Given the description of an element on the screen output the (x, y) to click on. 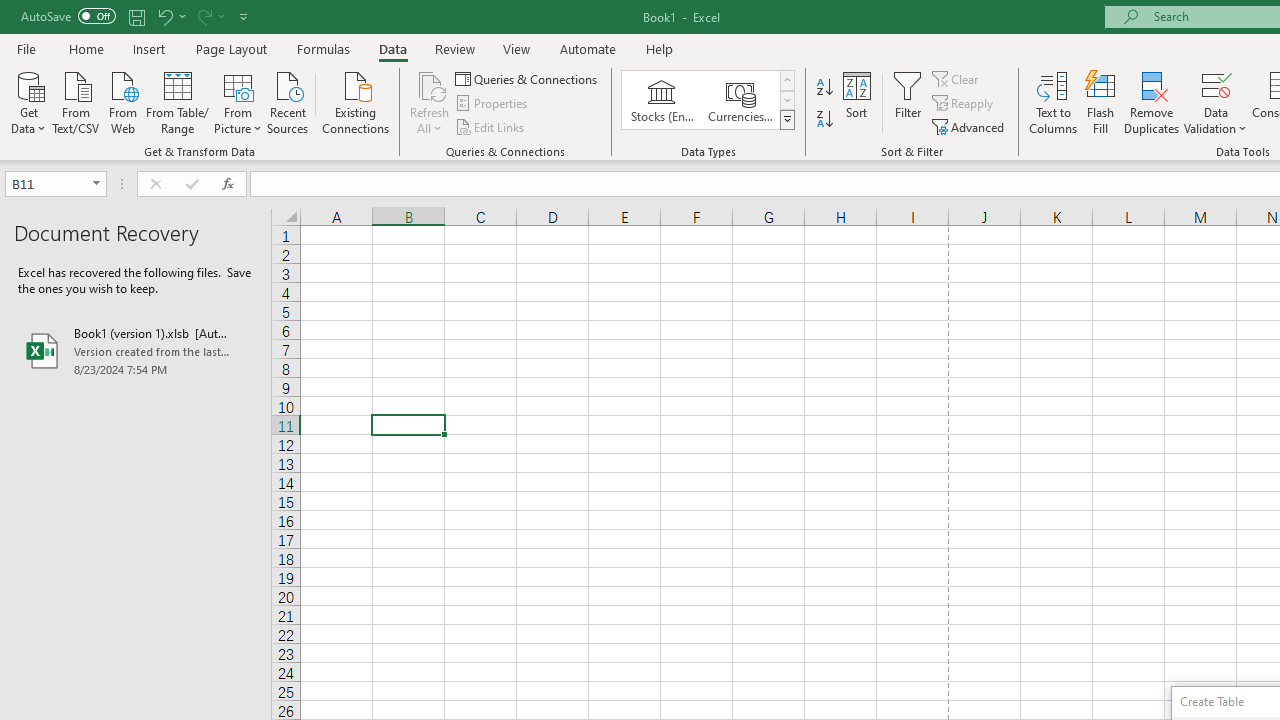
Insert (149, 48)
Class: NetUIImage (787, 119)
Review (454, 48)
Remove Duplicates (1151, 102)
Text to Columns... (1053, 102)
Data Validation... (1215, 102)
Clear (957, 78)
Quick Access Toolbar (136, 16)
Row up (786, 79)
File Tab (26, 48)
Data Validation... (1215, 84)
From Web (122, 101)
Currencies (English) (740, 100)
